Given the description of an element on the screen output the (x, y) to click on. 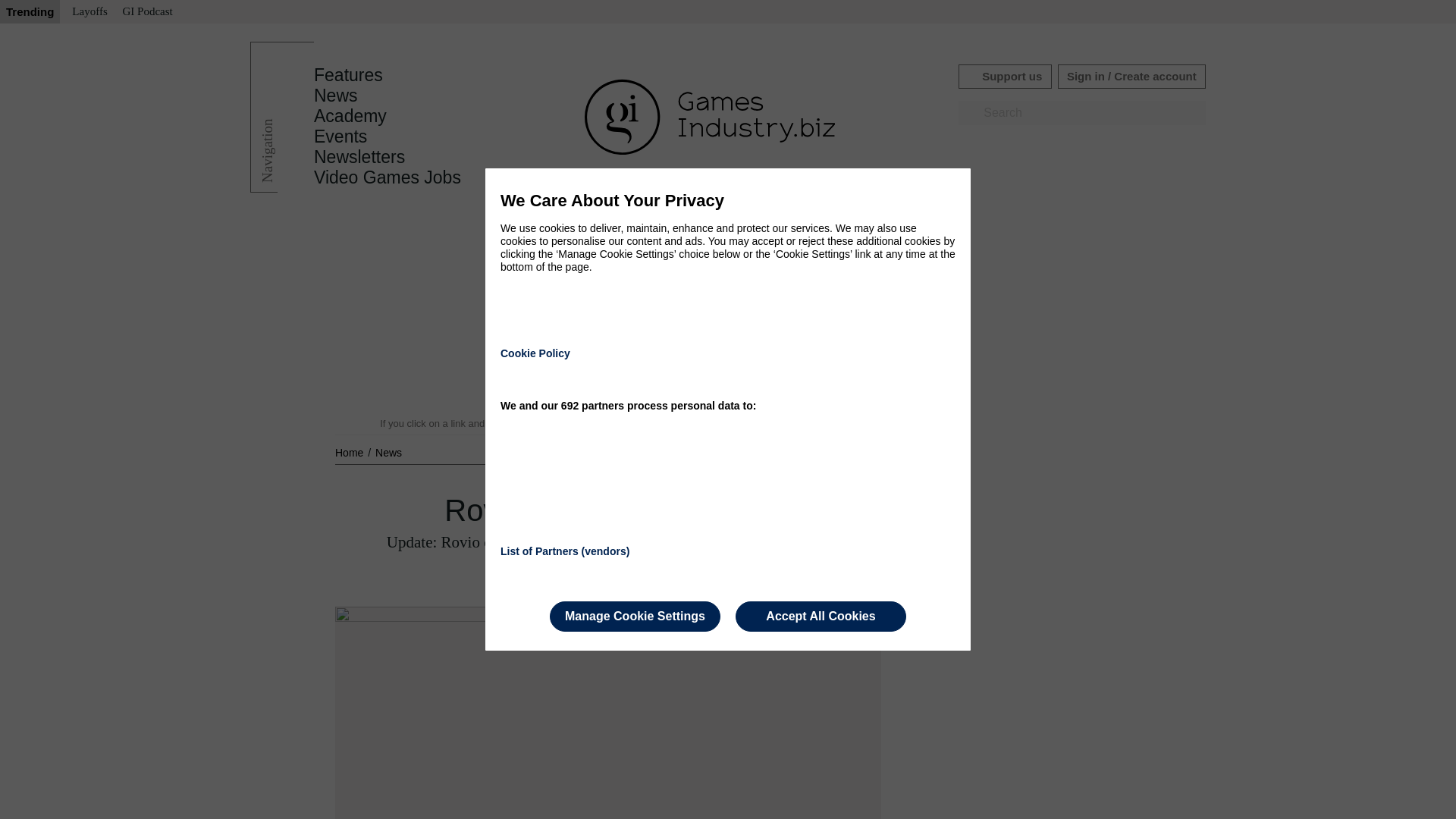
News (336, 95)
Newsletters (359, 157)
Features (348, 75)
GI Podcast (146, 11)
Events (340, 136)
Video Games Jobs (387, 177)
Layoffs (89, 11)
Home (350, 452)
News (388, 452)
Events (340, 136)
